Given the description of an element on the screen output the (x, y) to click on. 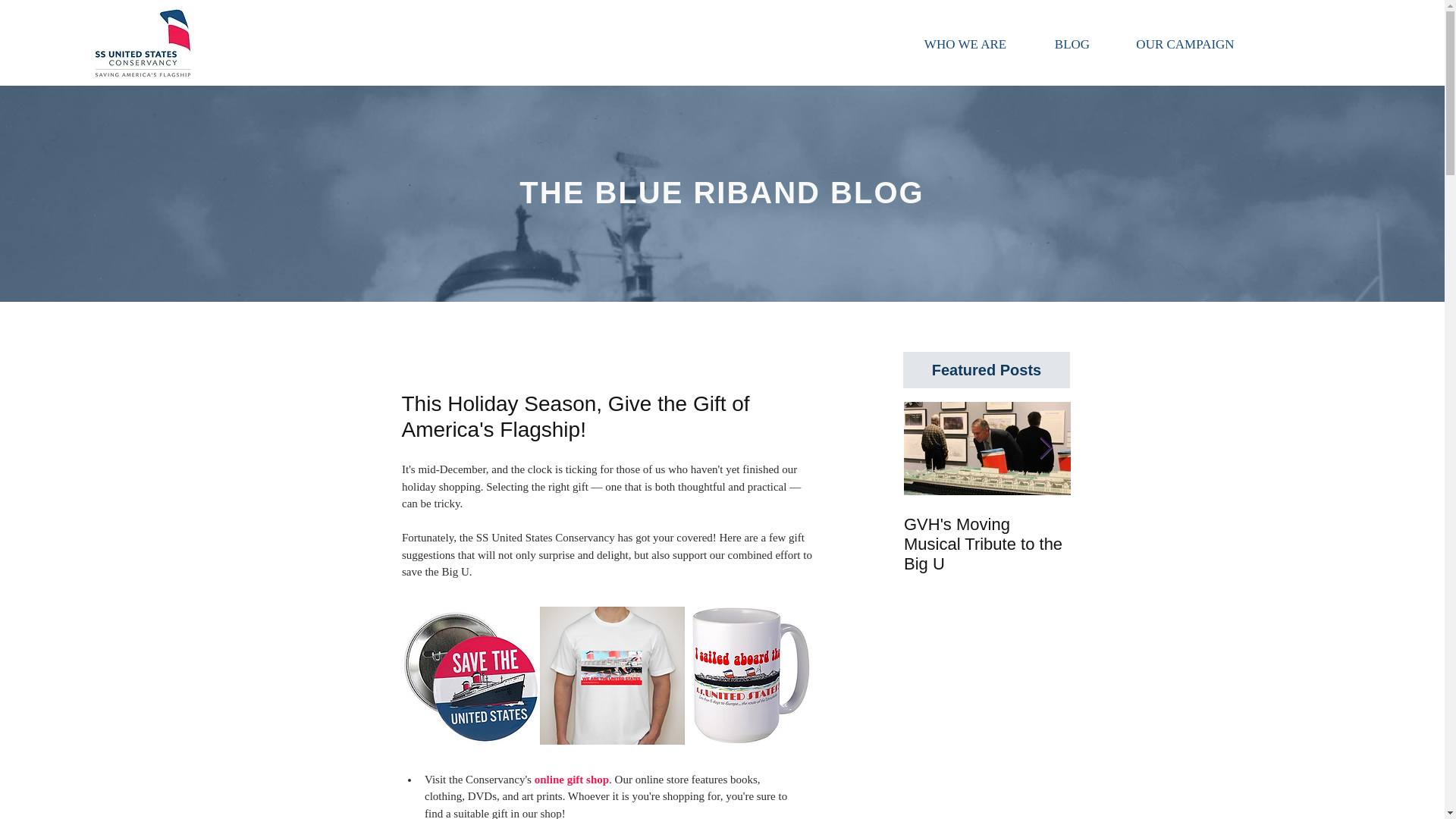
GVH's Moving Musical Tribute to the Big U (987, 544)
WHO WE ARE (965, 44)
BLOG (1072, 44)
OUR CAMPAIGN (1185, 44)
online gift shop (571, 779)
